Given the description of an element on the screen output the (x, y) to click on. 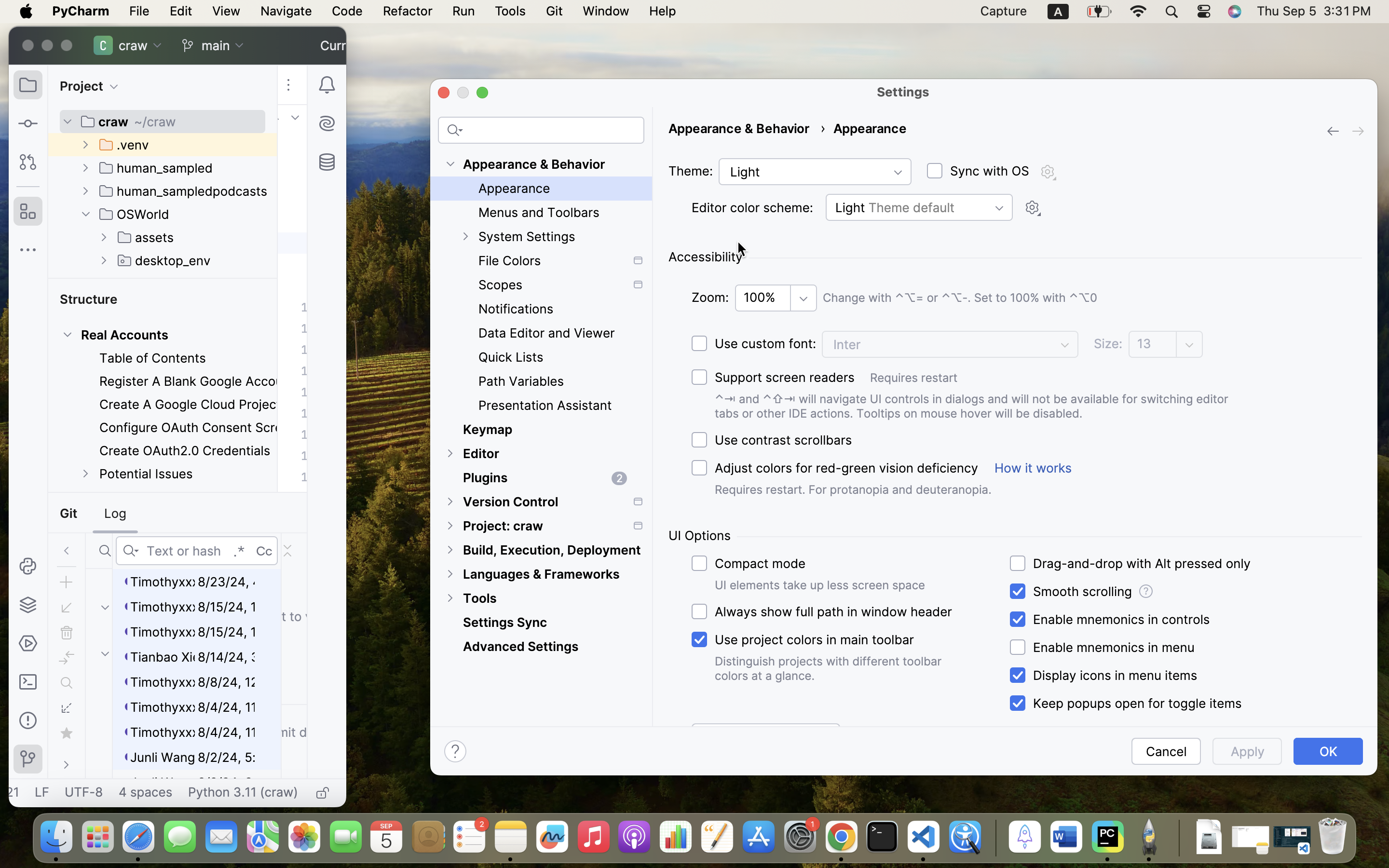
0.4285714328289032 Element type: AXDockItem (993, 837)
1 Element type: AXCheckBox (1123, 703)
100% Element type: AXTextField (763, 297)
Settings Element type: AXStaticText (902, 91)
⌃⇥ and ⌃⇧⇥ will navigate UI controls in dialogs and will not be available for switching editor tabs or other IDE actions. Tooltips on mouse hover will be disabled. Element type: AXTextField (984, 405)
